Given the description of an element on the screen output the (x, y) to click on. 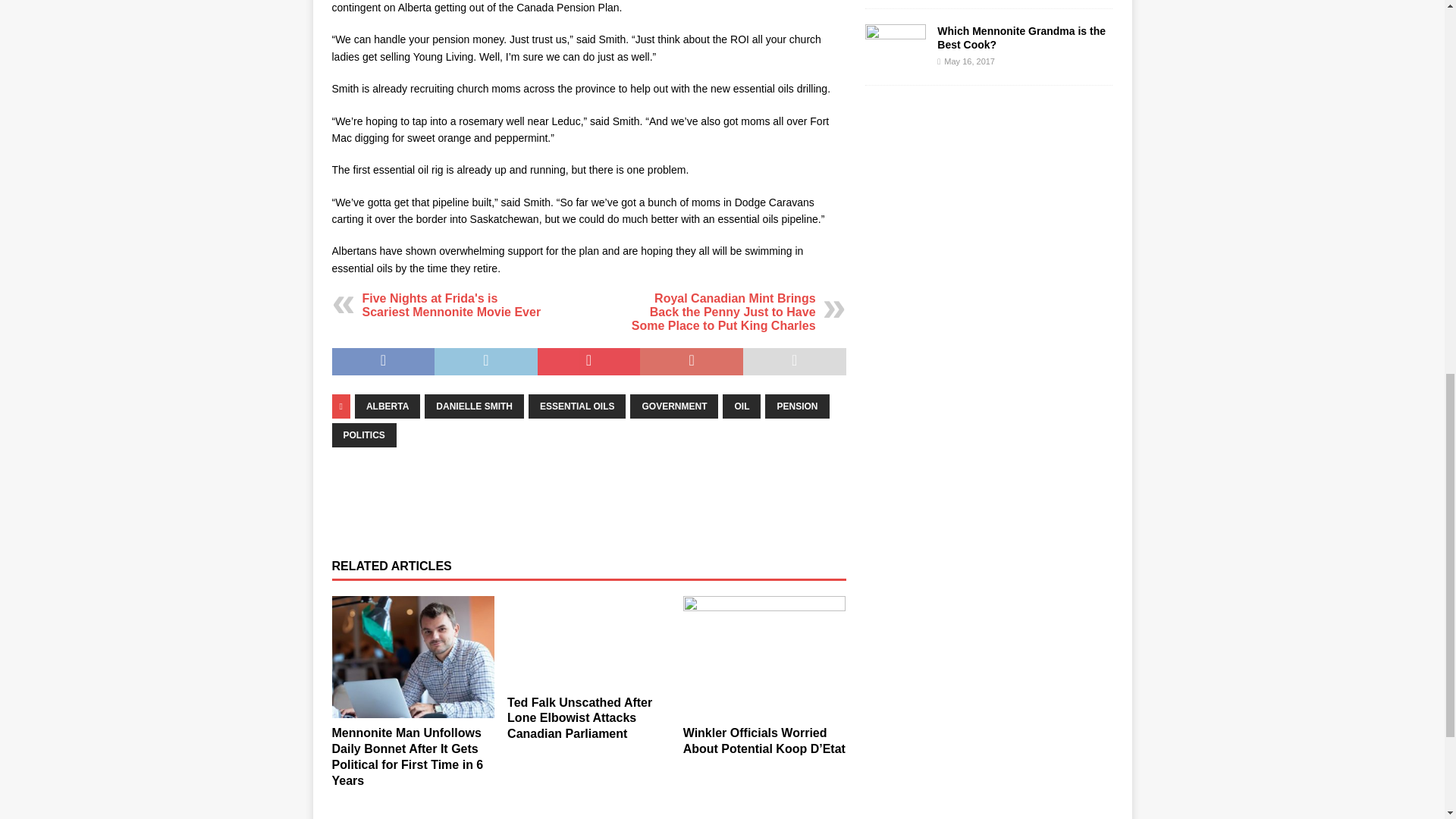
Five Nights at Frida's is Scariest Mennonite Movie Ever (451, 304)
GOVERNMENT (673, 405)
PENSION (796, 405)
OIL (741, 405)
ESSENTIAL OILS (577, 405)
DANIELLE SMITH (474, 405)
